Given the description of an element on the screen output the (x, y) to click on. 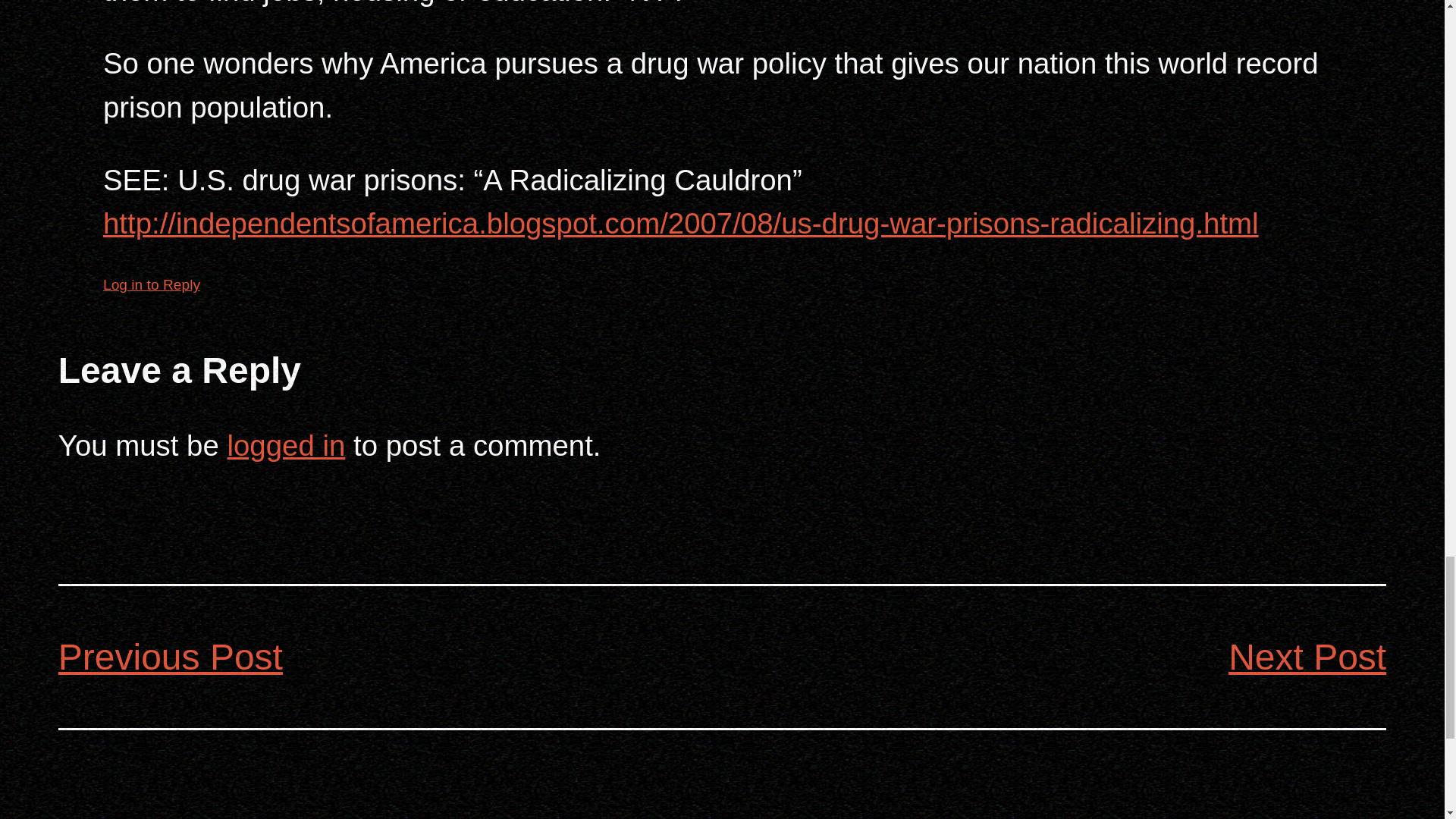
logged in (286, 445)
Next Post (1307, 657)
Log in to Reply (151, 284)
Previous Post (170, 657)
